Given the description of an element on the screen output the (x, y) to click on. 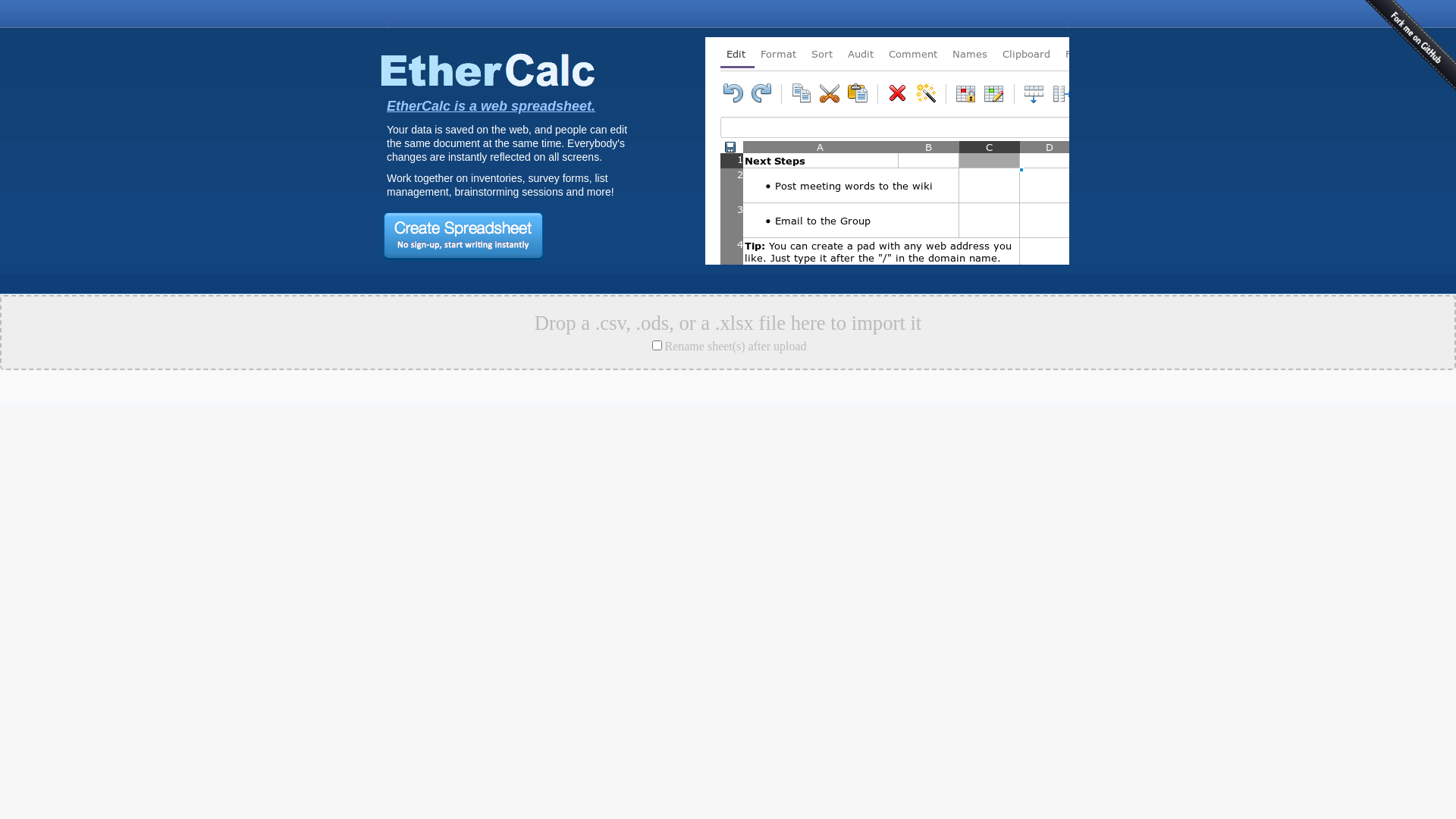
EtherCalc is a web spreadsheet. Element type: text (490, 105)
Create Spreadsheet Element type: text (462, 236)
